Given the description of an element on the screen output the (x, y) to click on. 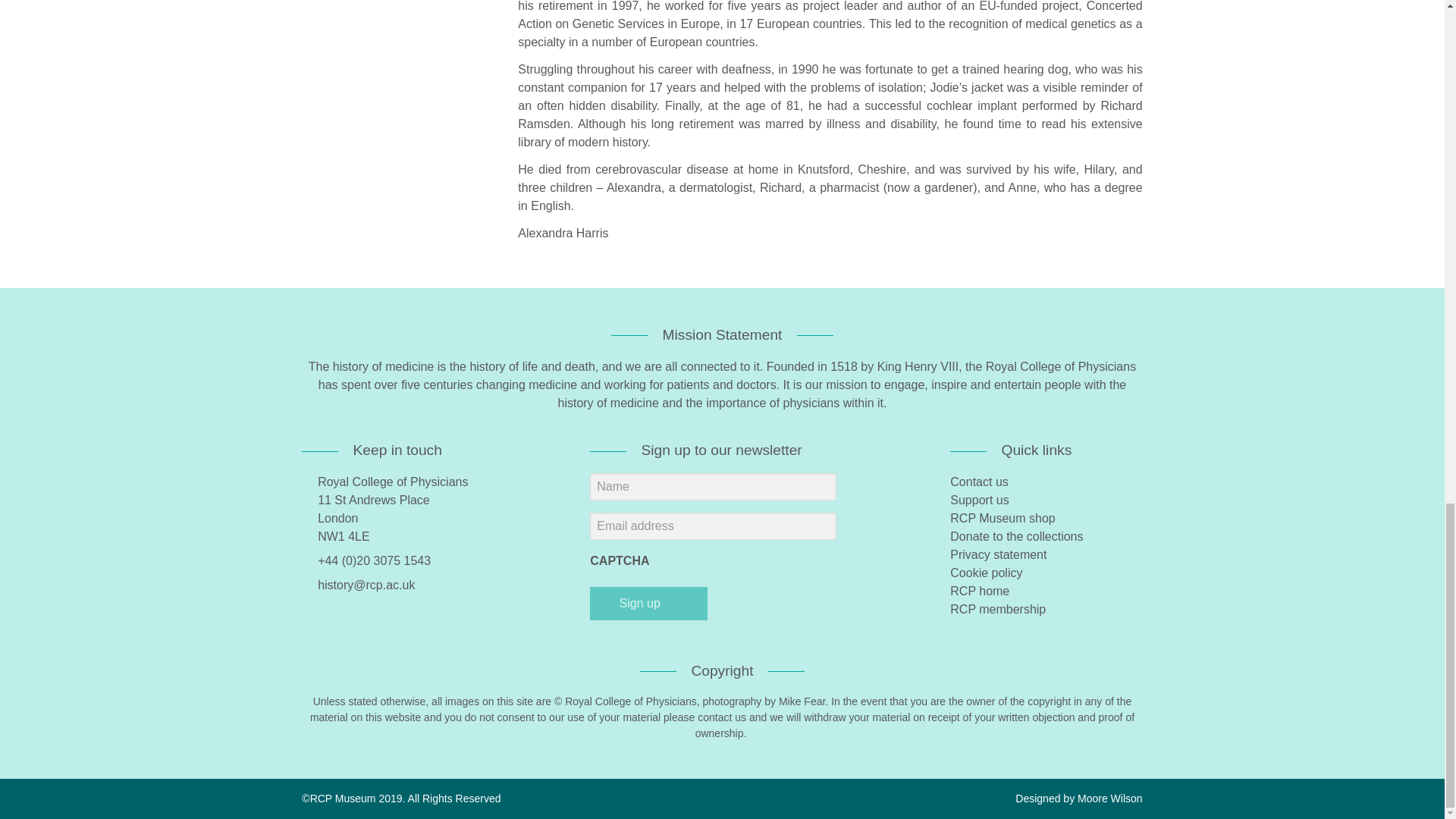
Sign up (648, 603)
